Given the description of an element on the screen output the (x, y) to click on. 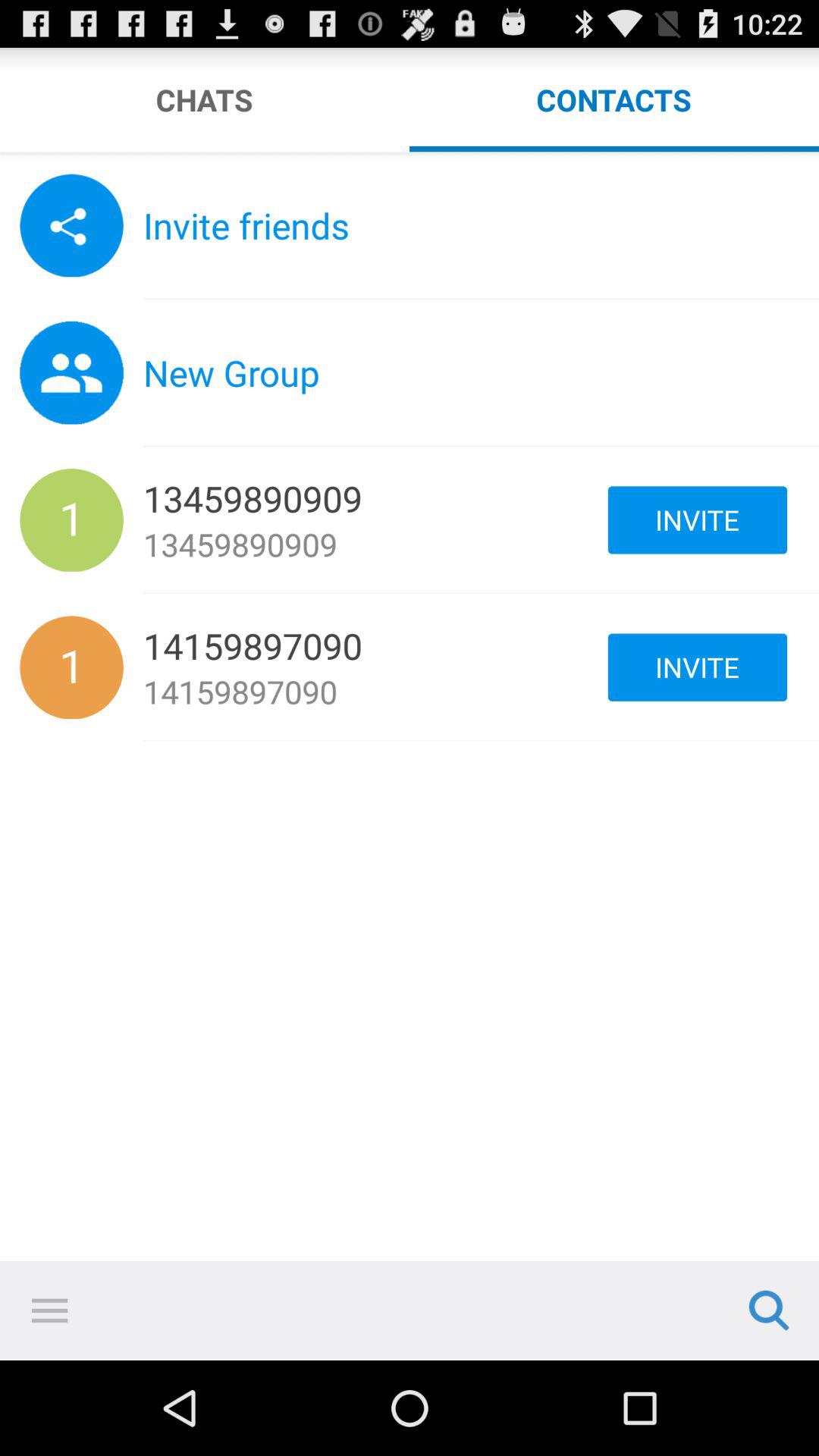
slide across (409, 155)
